Given the description of an element on the screen output the (x, y) to click on. 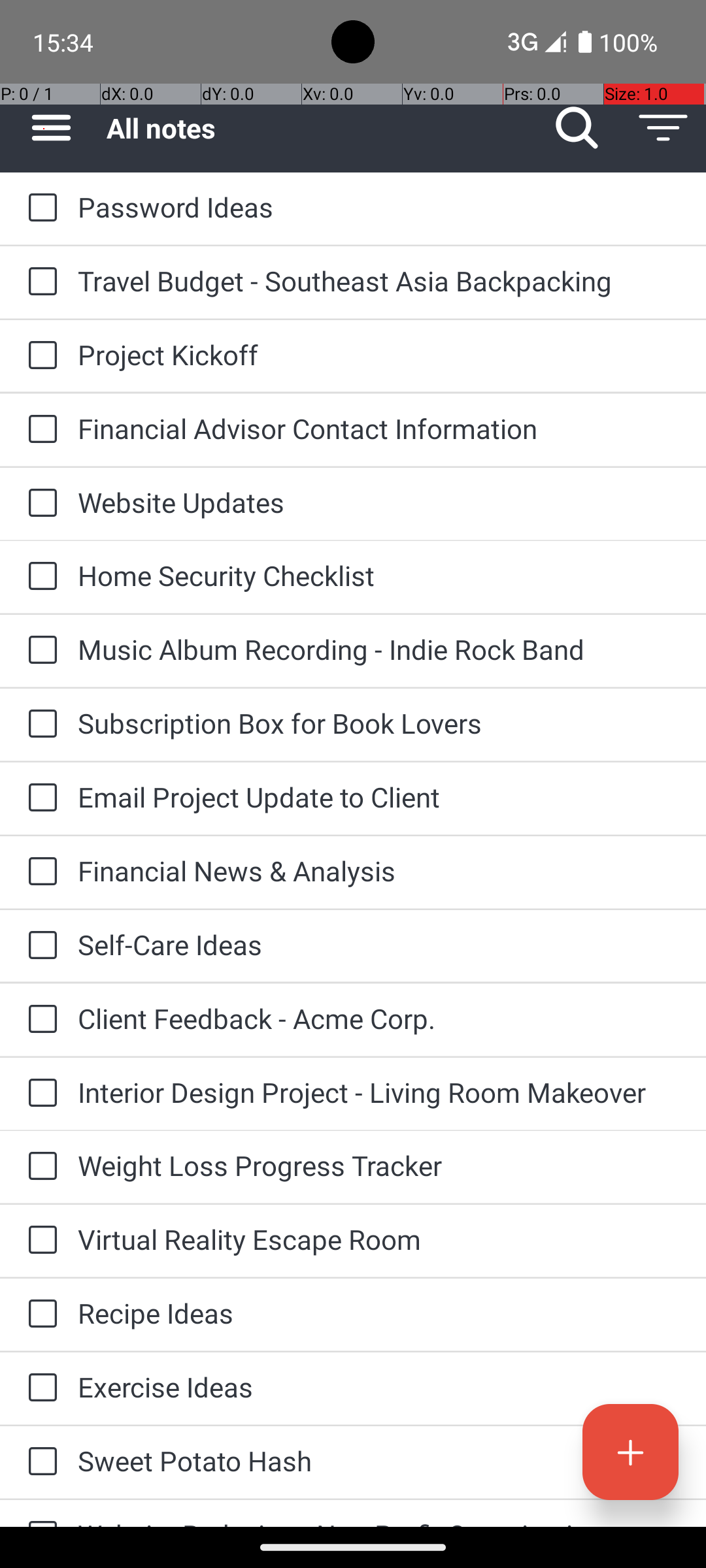
to-do: Password Ideas Element type: android.widget.CheckBox (38, 208)
Password Ideas Element type: android.widget.TextView (378, 206)
to-do: Travel Budget - Southeast Asia Backpacking Element type: android.widget.CheckBox (38, 282)
Travel Budget - Southeast Asia Backpacking Element type: android.widget.TextView (378, 280)
to-do: Project Kickoff Element type: android.widget.CheckBox (38, 356)
Project Kickoff Element type: android.widget.TextView (378, 354)
to-do: Financial Advisor Contact Information Element type: android.widget.CheckBox (38, 429)
Financial Advisor Contact Information Element type: android.widget.TextView (378, 427)
to-do: Website Updates Element type: android.widget.CheckBox (38, 503)
Website Updates Element type: android.widget.TextView (378, 501)
to-do: Home Security Checklist Element type: android.widget.CheckBox (38, 576)
Home Security Checklist Element type: android.widget.TextView (378, 574)
to-do: Music Album Recording - Indie Rock Band Element type: android.widget.CheckBox (38, 650)
Music Album Recording - Indie Rock Band Element type: android.widget.TextView (378, 648)
to-do: Subscription Box for Book Lovers Element type: android.widget.CheckBox (38, 724)
Subscription Box for Book Lovers Element type: android.widget.TextView (378, 722)
to-do: Email Project Update to Client Element type: android.widget.CheckBox (38, 798)
Email Project Update to Client Element type: android.widget.TextView (378, 796)
to-do: Financial News & Analysis Element type: android.widget.CheckBox (38, 872)
Financial News & Analysis Element type: android.widget.TextView (378, 870)
to-do: Self-Care Ideas Element type: android.widget.CheckBox (38, 945)
Self-Care Ideas Element type: android.widget.TextView (378, 944)
to-do: Client Feedback - Acme Corp. Element type: android.widget.CheckBox (38, 1019)
Client Feedback - Acme Corp. Element type: android.widget.TextView (378, 1017)
to-do: Interior Design Project - Living Room Makeover Element type: android.widget.CheckBox (38, 1093)
Interior Design Project - Living Room Makeover Element type: android.widget.TextView (378, 1091)
to-do: Weight Loss Progress Tracker Element type: android.widget.CheckBox (38, 1166)
Weight Loss Progress Tracker Element type: android.widget.TextView (378, 1164)
to-do: Virtual Reality Escape Room Element type: android.widget.CheckBox (38, 1240)
Virtual Reality Escape Room Element type: android.widget.TextView (378, 1238)
to-do: Recipe Ideas Element type: android.widget.CheckBox (38, 1314)
Recipe Ideas Element type: android.widget.TextView (378, 1312)
to-do: Exercise Ideas Element type: android.widget.CheckBox (38, 1388)
Exercise Ideas Element type: android.widget.TextView (378, 1386)
to-do: Sweet Potato Hash Element type: android.widget.CheckBox (38, 1462)
Sweet Potato Hash Element type: android.widget.TextView (378, 1460)
to-do: Website Redesign - Non-Profit Organization Element type: android.widget.CheckBox (38, 1513)
Website Redesign - Non-Profit Organization Element type: android.widget.TextView (378, 1520)
